Given the description of an element on the screen output the (x, y) to click on. 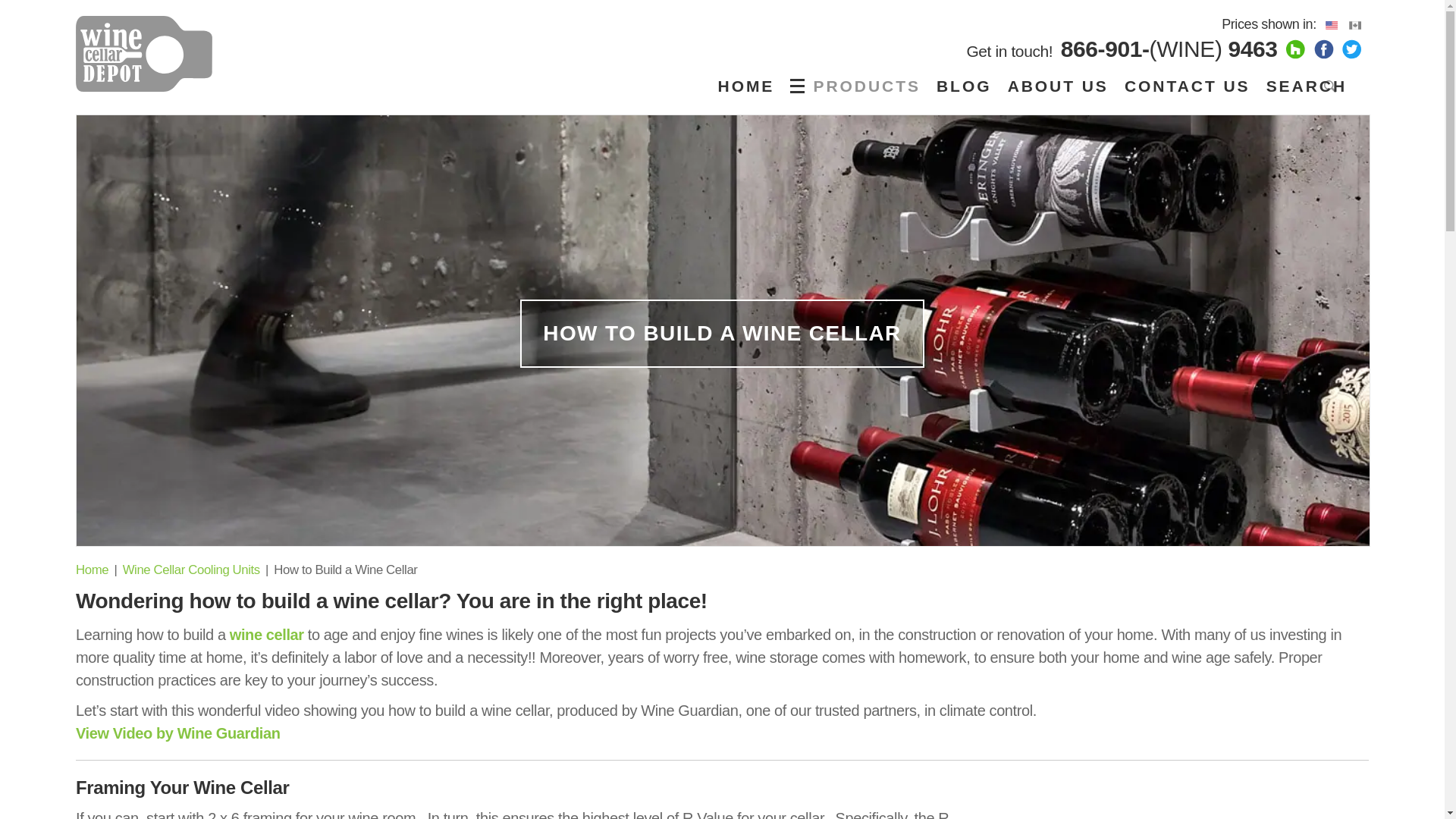
ABOUT US (1058, 85)
Wine Cellar Cooling Units (191, 569)
BLOG (963, 85)
CONTACT US (1187, 85)
SEARCH (1311, 85)
View Video by Wine Guardian (177, 733)
wine cellar (267, 634)
How to Build a Wine Cellar 2 (1179, 816)
PRODUCTS (858, 85)
HOME (745, 85)
Home (91, 569)
